Given the description of an element on the screen output the (x, y) to click on. 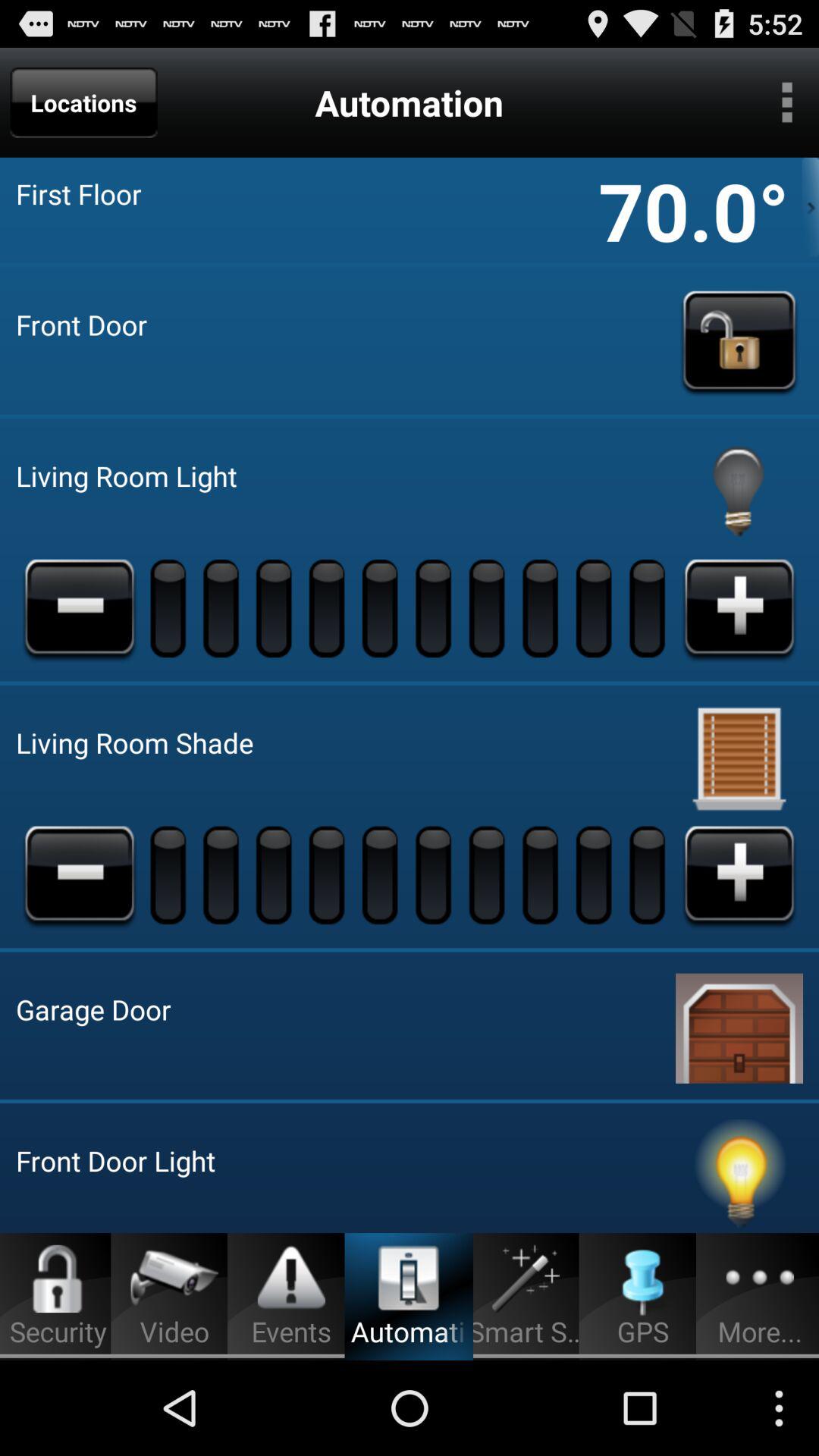
lower living room shades (79, 874)
